Given the description of an element on the screen output the (x, y) to click on. 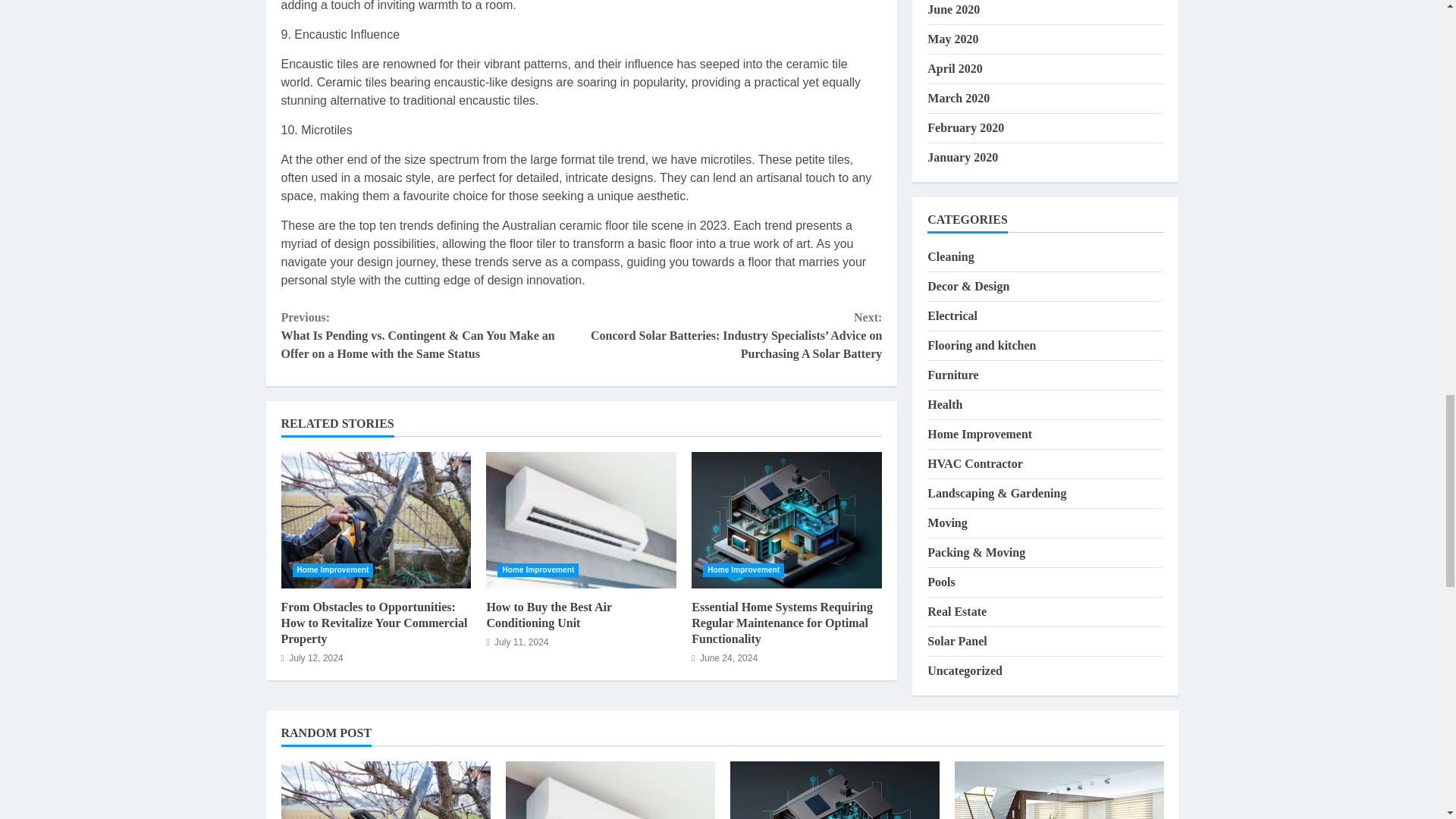
Home Improvement (743, 570)
Home Improvement (333, 570)
How to Buy the Best Air Conditioning Unit (548, 614)
Home Improvement (537, 570)
How to Buy the Best Air Conditioning Unit (581, 520)
